Given the description of an element on the screen output the (x, y) to click on. 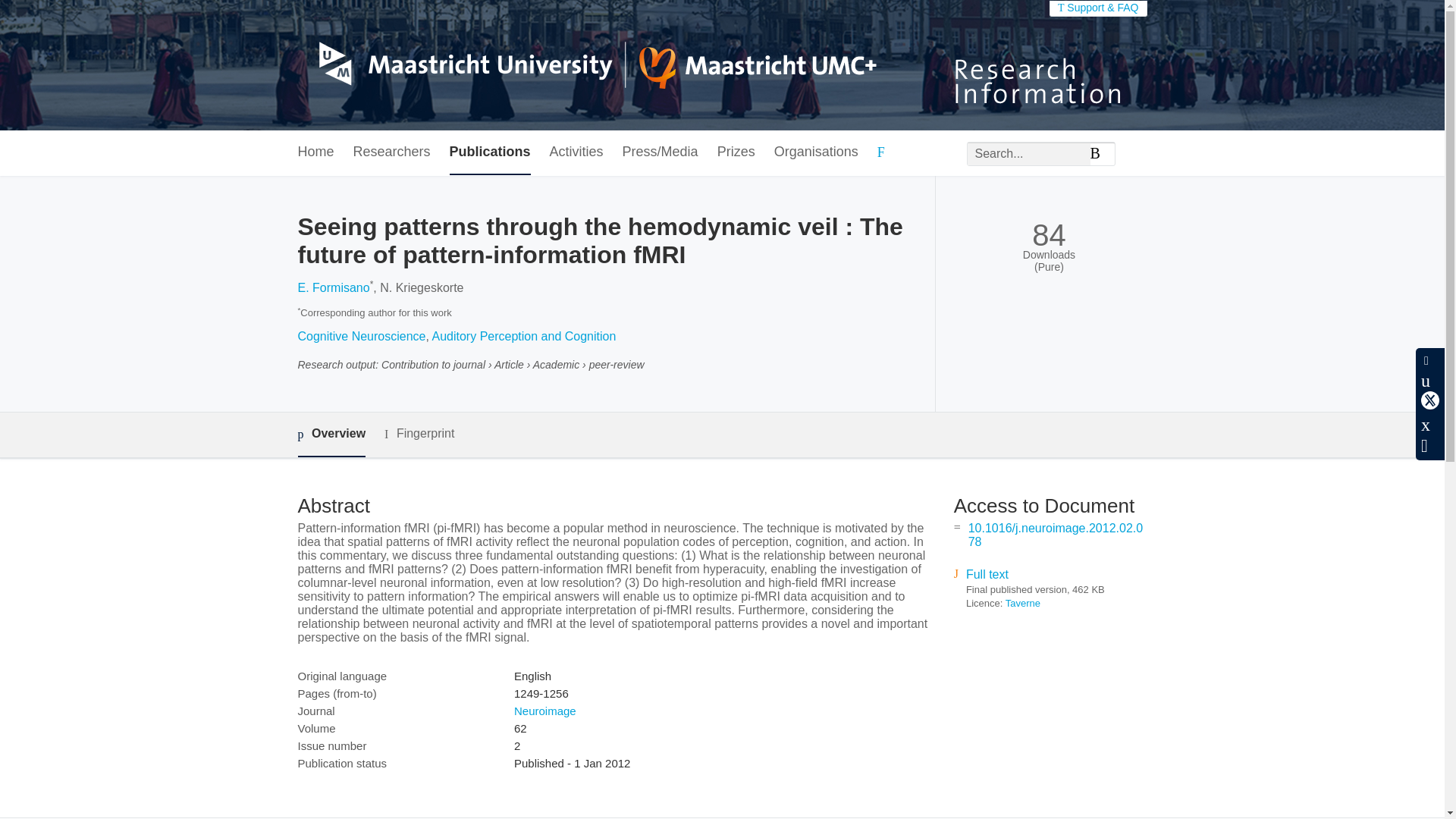
Fingerprint (419, 433)
Researchers (391, 152)
Full text (987, 574)
Activities (577, 152)
Cognitive Neuroscience (361, 336)
Overview (331, 434)
Maastricht University Home (586, 64)
Organisations (816, 152)
Neuroimage (544, 710)
